Given the description of an element on the screen output the (x, y) to click on. 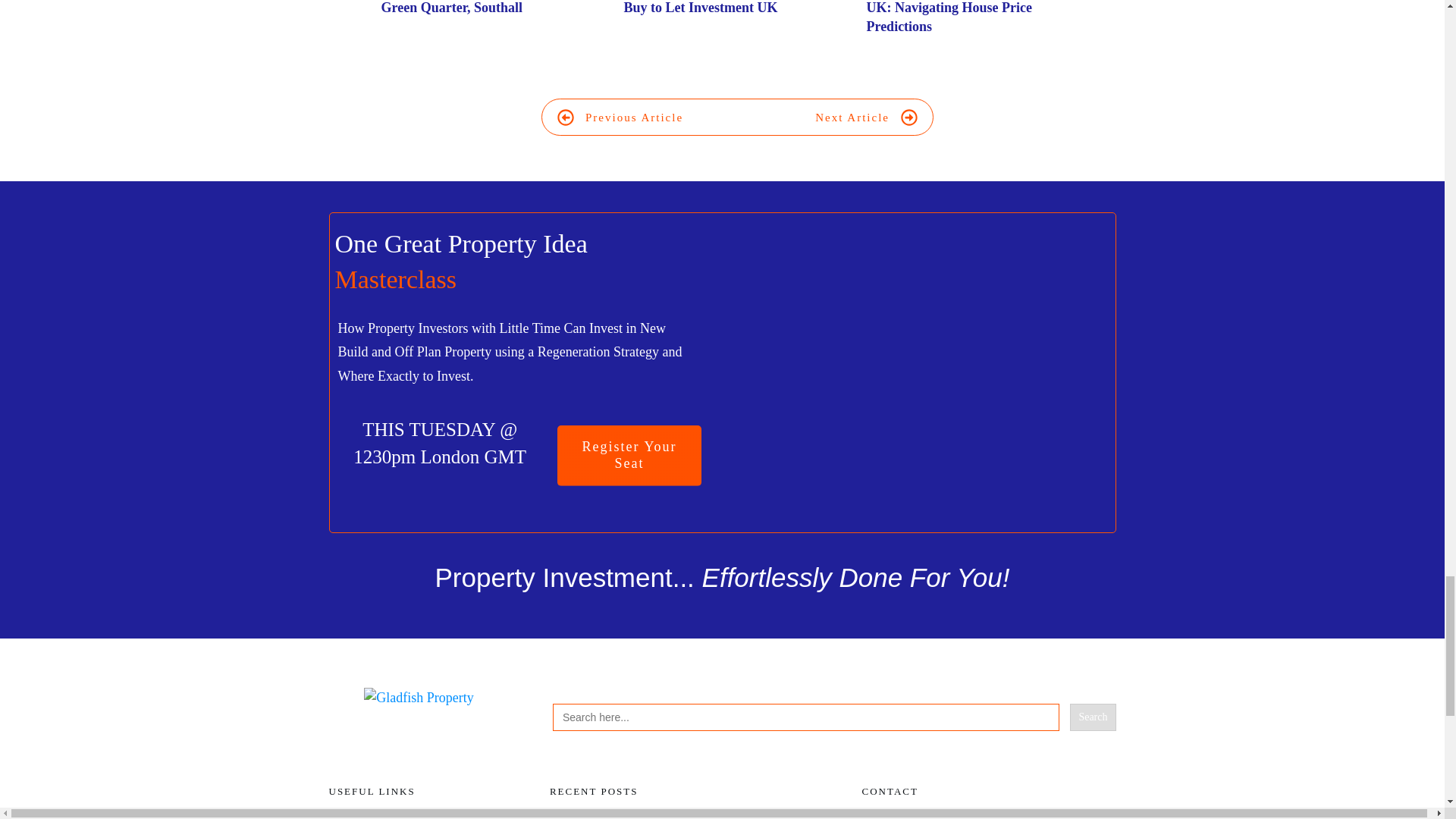
House Price Predictions: Navigating Buy to Let Investment UK (728, 7)
Next Article (866, 117)
House Price Predictions: Navigating Buy to Let Investment UK (736, 26)
Invest in a Thriving Future at The Green Quarter, Southall (479, 7)
House Price Predictions: Navigating Buy to Let Investment UK (695, 817)
Search (1092, 717)
House Price Predictions: Navigating Buy to Let Investment UK (728, 7)
Search (1092, 717)
Search (1092, 717)
Register Your Seat (629, 455)
Invest in a Thriving Future at The Green Quarter, Southall (479, 7)
Invest in a Thriving Future at The Green Quarter, Southall (494, 26)
